Given the description of an element on the screen output the (x, y) to click on. 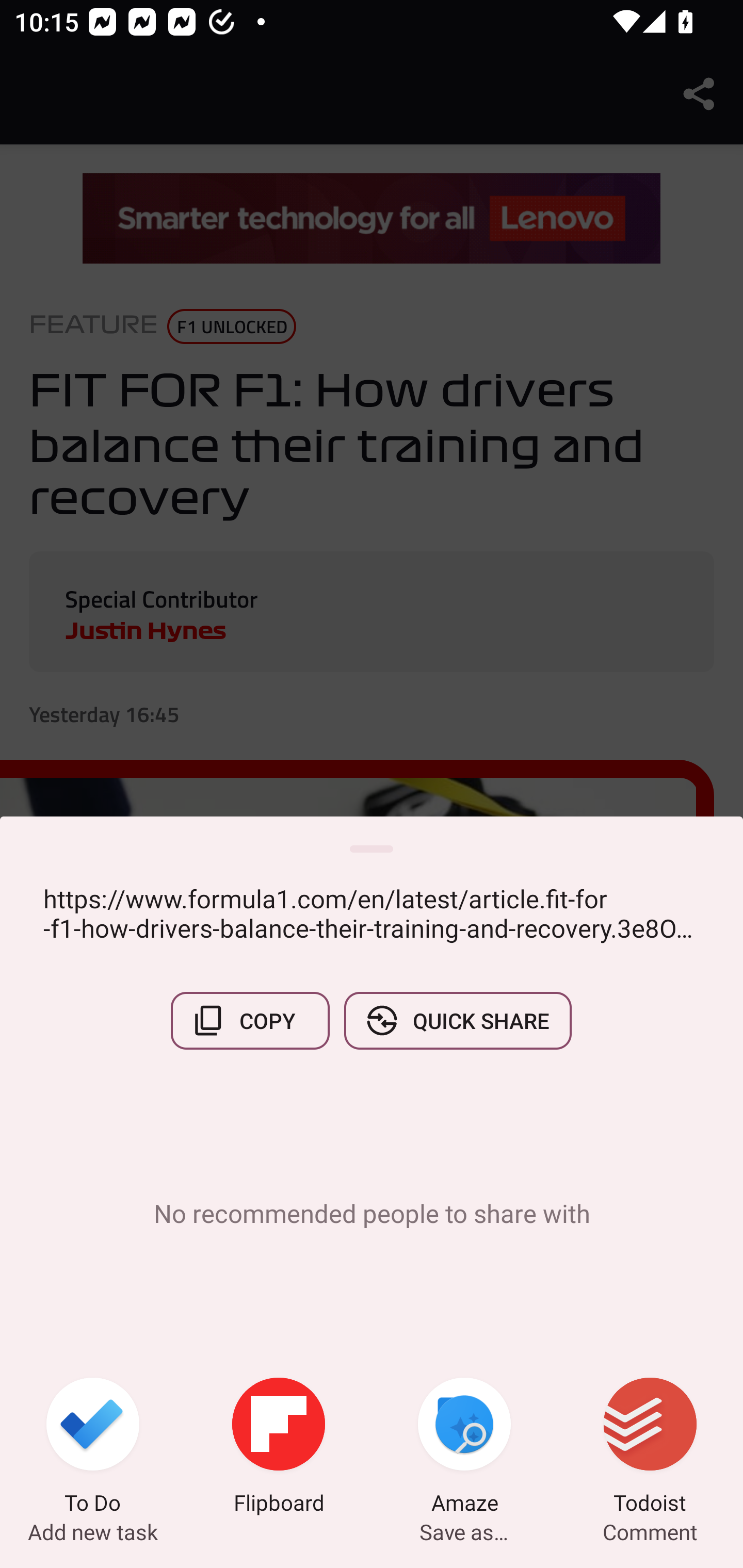
COPY (249, 1020)
QUICK SHARE (457, 1020)
To Do Add new task (92, 1448)
Flipboard (278, 1448)
Amaze Save as… (464, 1448)
Todoist Comment (650, 1448)
